Given the description of an element on the screen output the (x, y) to click on. 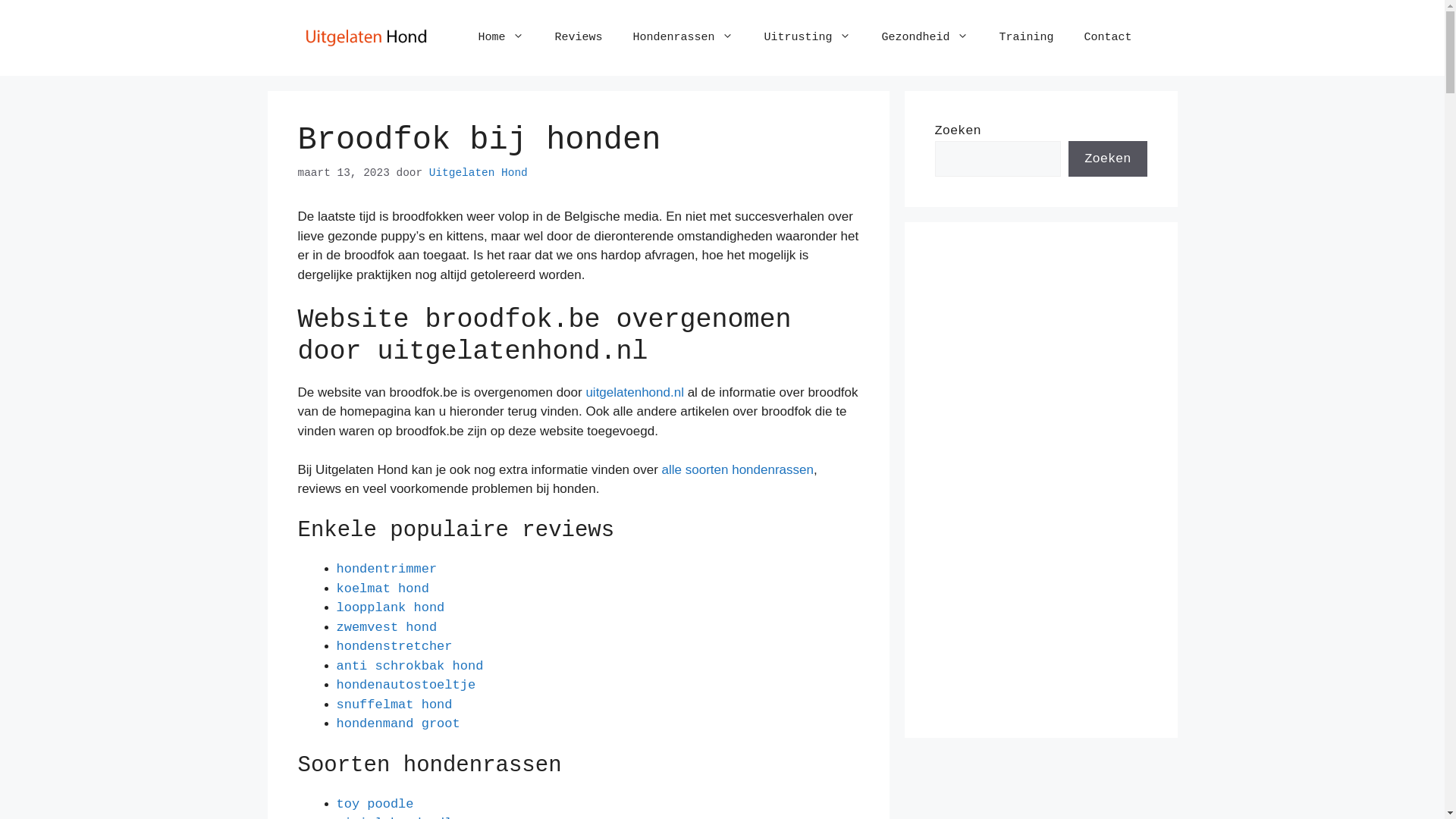
Uitgelaten Hond Element type: text (478, 172)
hondentrimmer Element type: text (386, 568)
hondenautostoeltje Element type: text (406, 684)
Home Element type: text (500, 37)
loopplank hond Element type: text (390, 607)
Advertisement Element type: hover (1040, 479)
Hondenrassen Element type: text (682, 37)
Contact Element type: text (1107, 37)
Uitgelaten Hond Element type: hover (365, 37)
Uitgelaten Hond Element type: hover (365, 37)
zwemvest hond Element type: text (386, 627)
toy poodle Element type: text (375, 804)
hondenstretcher Element type: text (394, 646)
koelmat hond Element type: text (382, 588)
Zoeken Element type: text (1107, 159)
alle soorten hondenrassen Element type: text (737, 469)
hondenmand groot Element type: text (398, 723)
Reviews Element type: text (578, 37)
Uitrusting Element type: text (807, 37)
uitgelatenhond.nl Element type: text (634, 392)
Training Element type: text (1025, 37)
anti schrokbak hond Element type: text (409, 665)
snuffelmat hond Element type: text (394, 704)
Gezondheid Element type: text (924, 37)
